Given the description of an element on the screen output the (x, y) to click on. 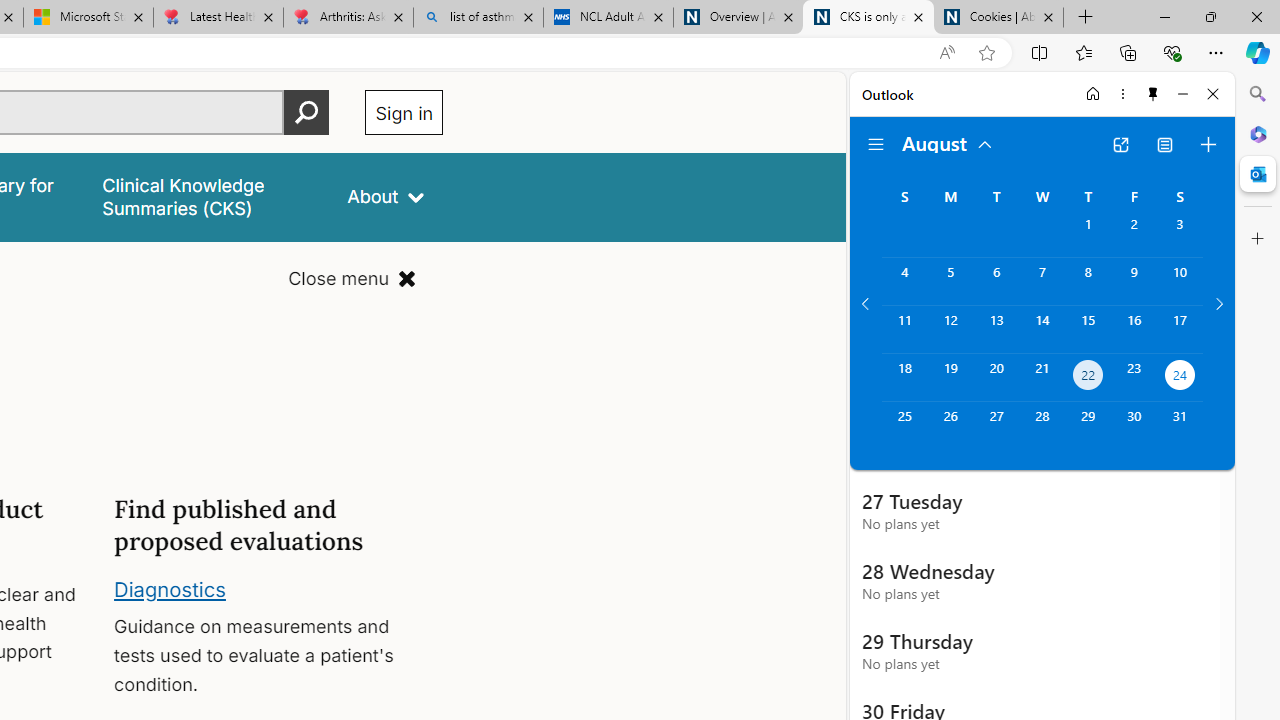
Thursday, August 22, 2024. Today.  (1088, 377)
Cookies | About | NICE (998, 17)
View Switcher. Current view is Agenda view (1165, 144)
August (948, 141)
Create event (1208, 144)
Close menu (352, 278)
Thursday, August 8, 2024.  (1088, 281)
Monday, August 26, 2024.  (950, 425)
